Given the description of an element on the screen output the (x, y) to click on. 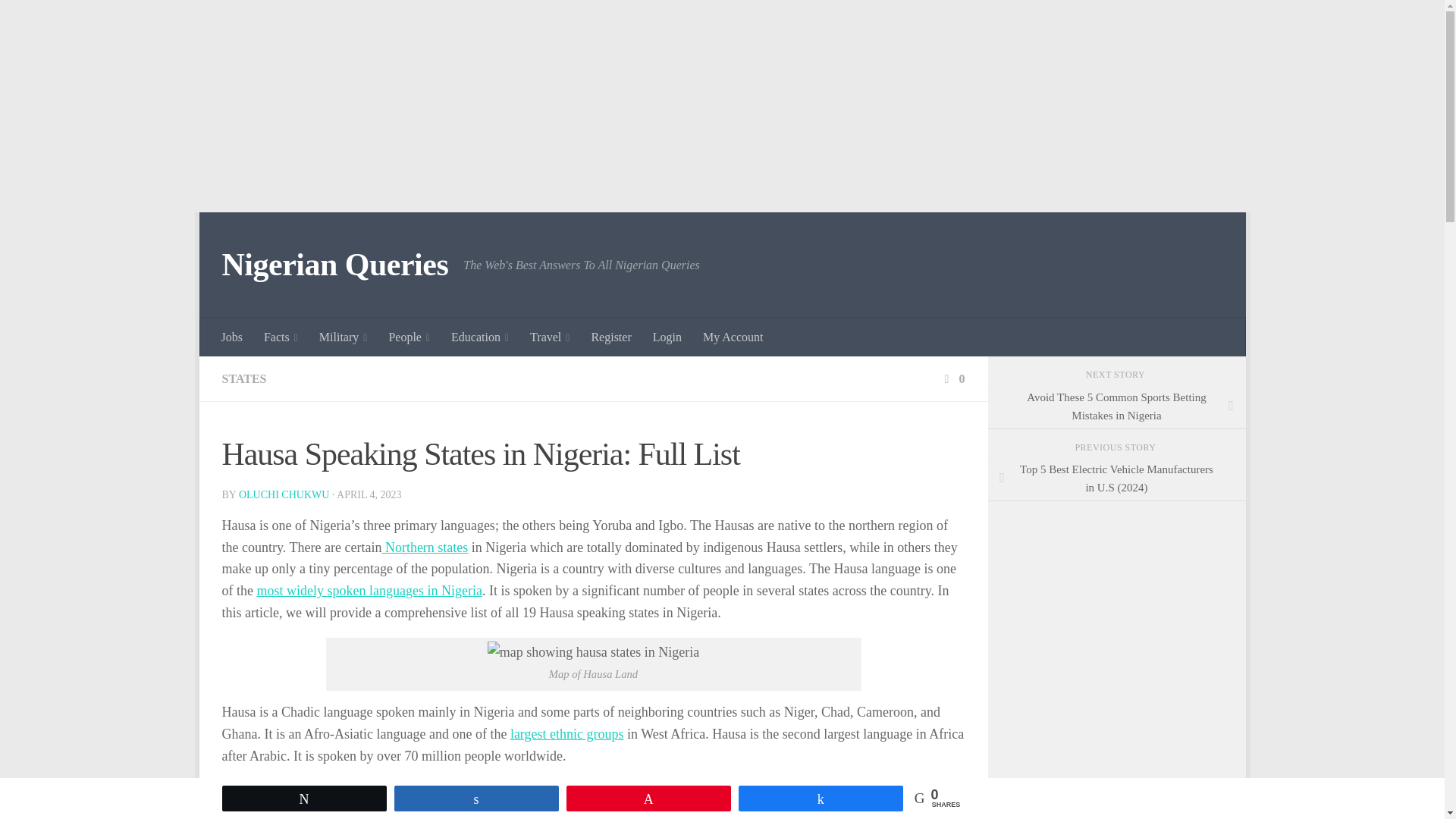
Skip to content (258, 232)
Nigerian Queries (334, 265)
Jobs (232, 337)
Facts (280, 337)
Posts by Oluchi Chukwu (283, 494)
